Given the description of an element on the screen output the (x, y) to click on. 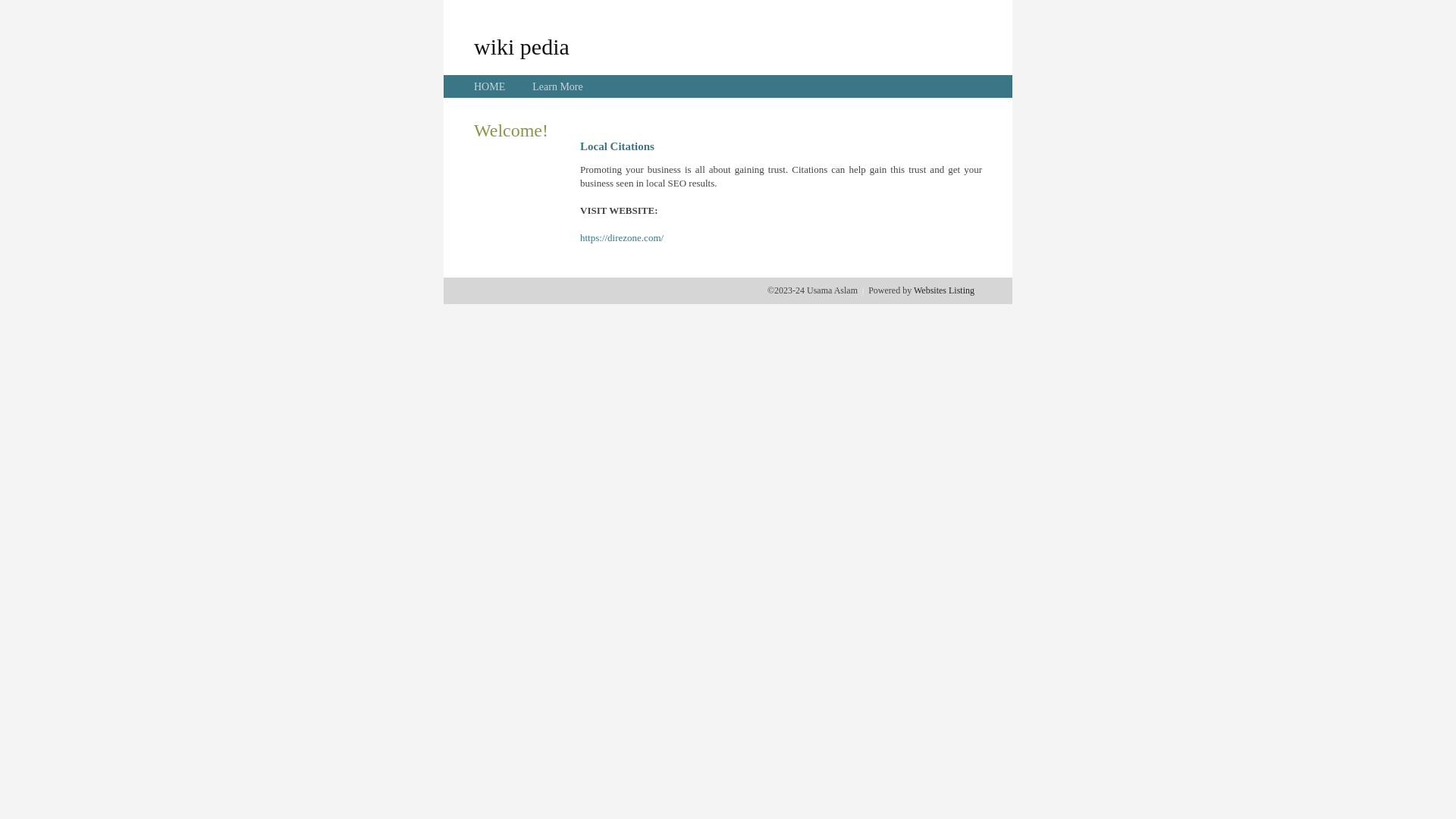
wiki pedia Element type: text (521, 46)
https://direzone.com/ Element type: text (621, 237)
Websites Listing Element type: text (943, 290)
HOME Element type: text (489, 86)
Learn More Element type: text (557, 86)
